Given the description of an element on the screen output the (x, y) to click on. 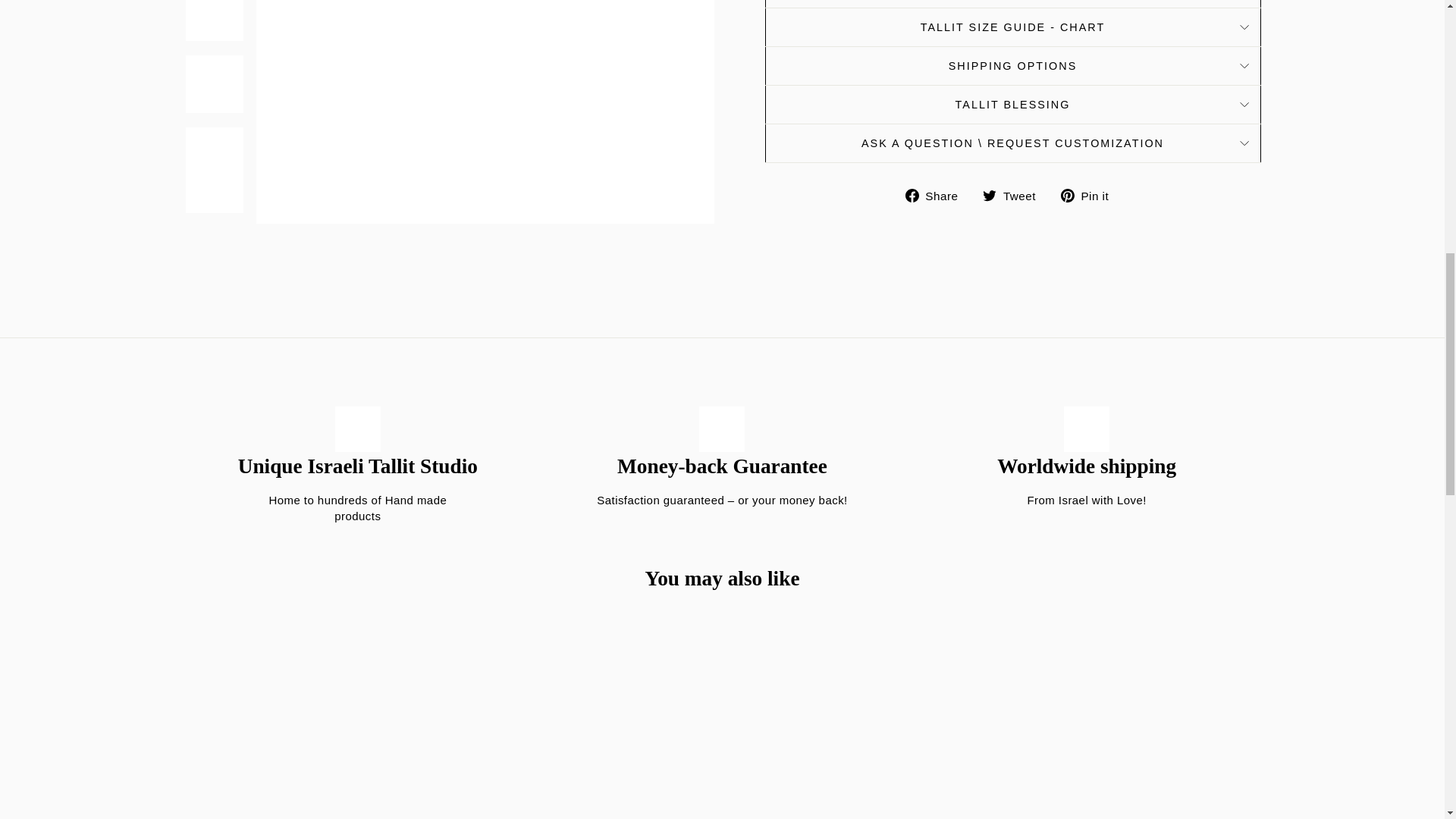
Tweet on Twitter (1014, 194)
Share on Facebook (937, 194)
Pin on Pinterest (1090, 194)
